Given the description of an element on the screen output the (x, y) to click on. 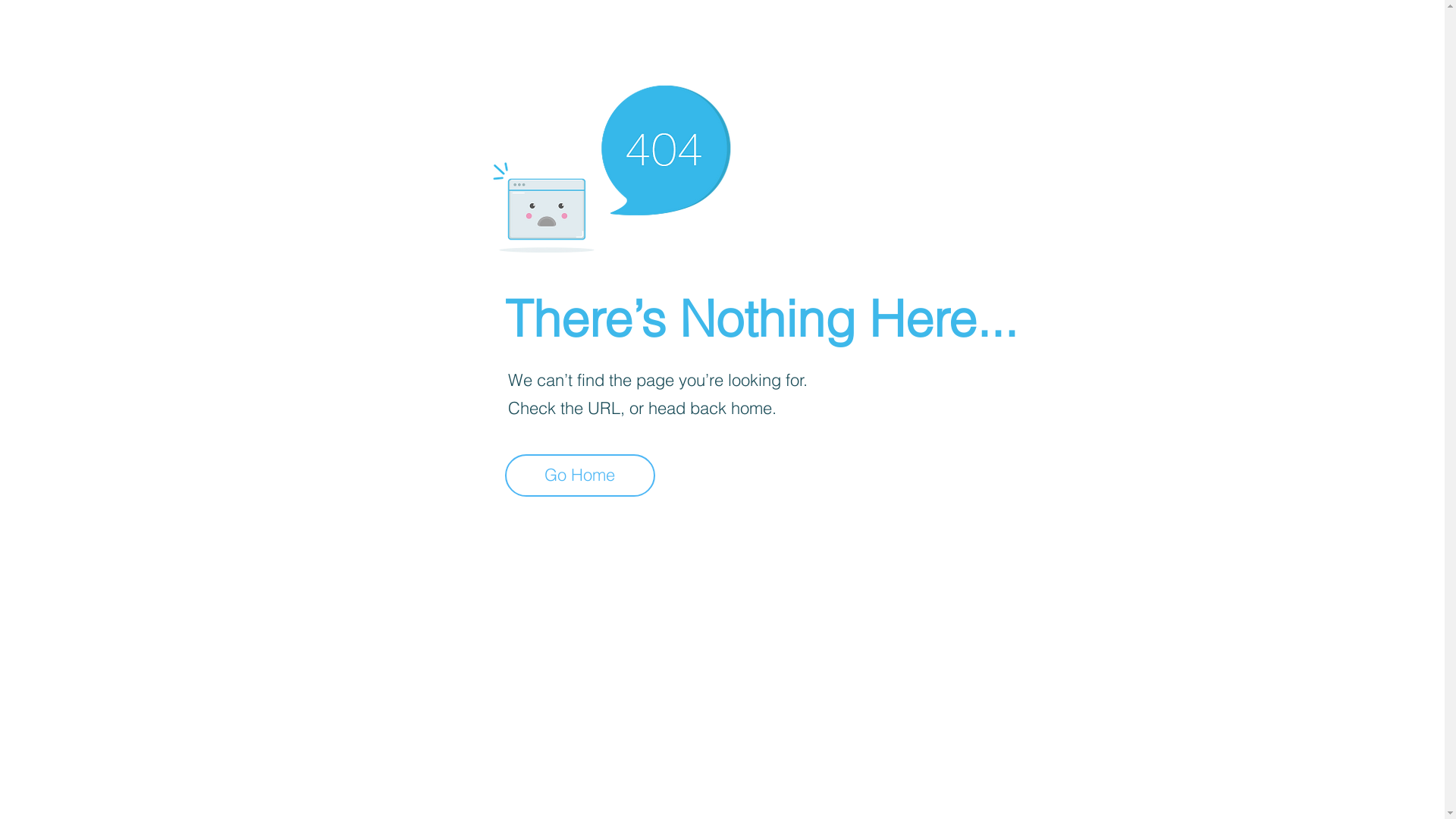
404-icon_2.png Element type: hover (610, 164)
Go Home Element type: text (580, 475)
